Given the description of an element on the screen output the (x, y) to click on. 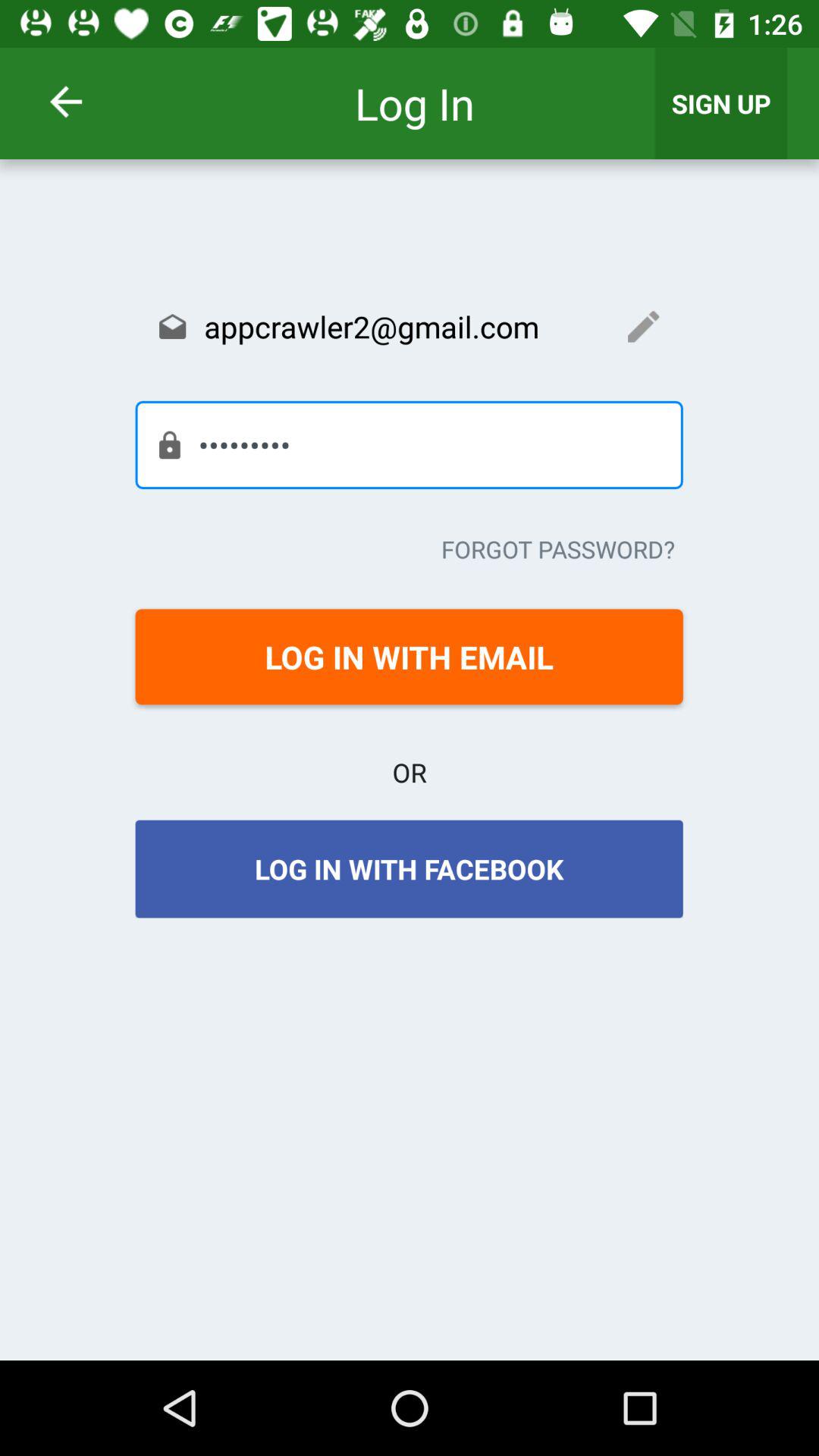
flip until sign up (721, 103)
